Given the description of an element on the screen output the (x, y) to click on. 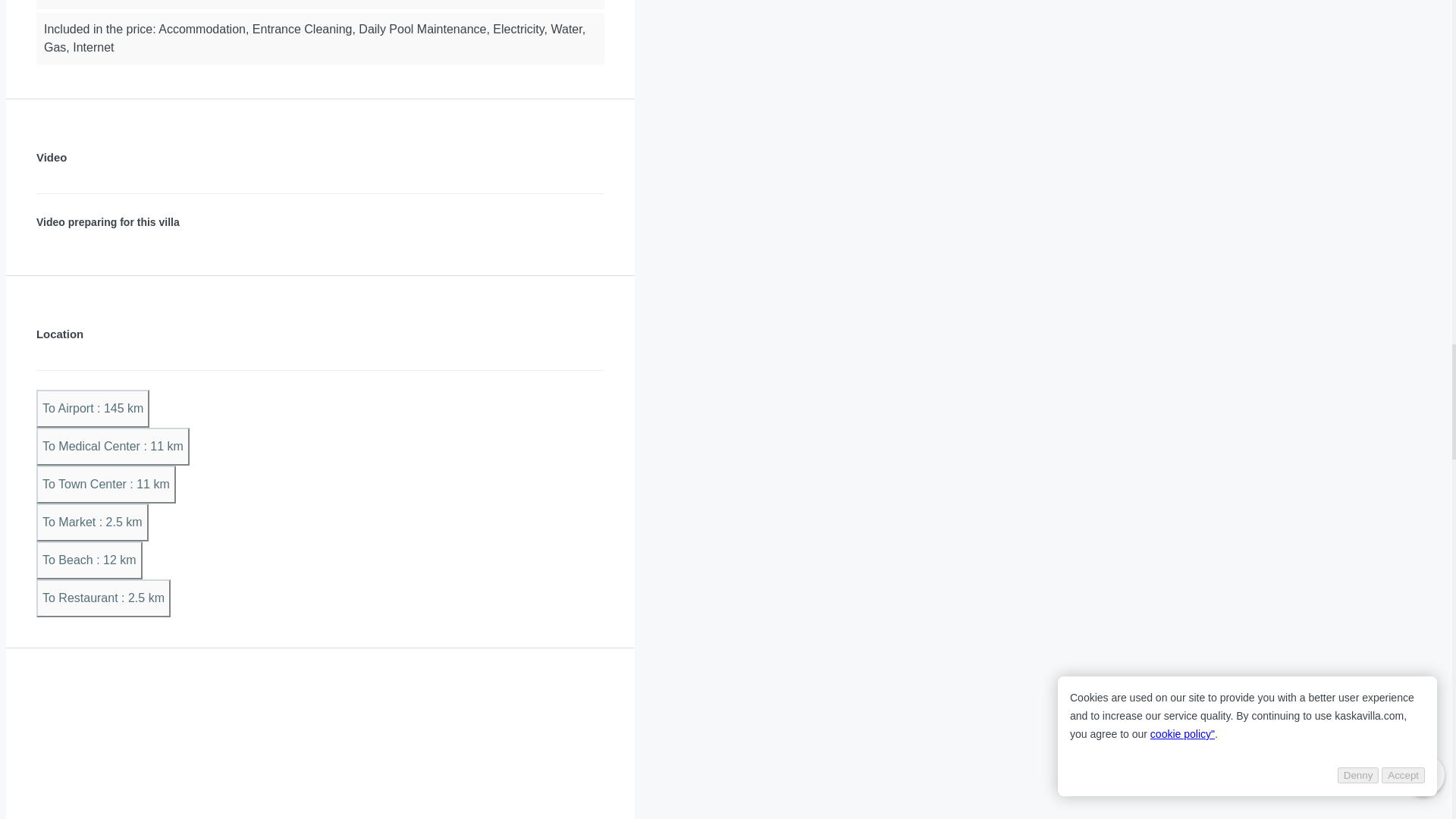
To Town Center : 11 km (106, 484)
To Medical Center : 11 km (112, 446)
To Restaurant : 2.5 km (103, 598)
To Market : 2.5 km (92, 522)
To Airport : 145 km (92, 408)
To Beach : 12 km (89, 560)
